Given the description of an element on the screen output the (x, y) to click on. 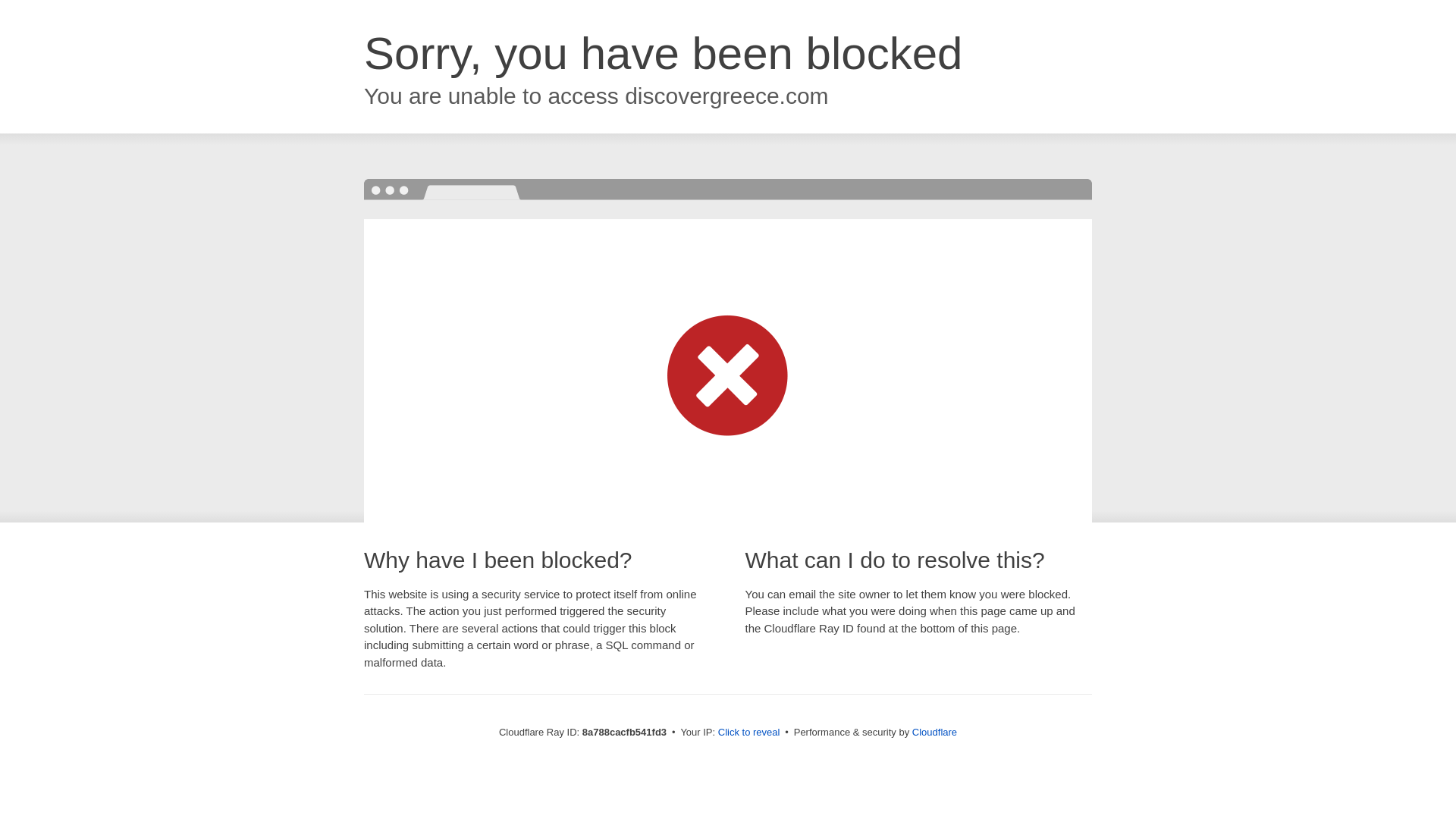
Cloudflare (934, 731)
Click to reveal (748, 732)
